Given the description of an element on the screen output the (x, y) to click on. 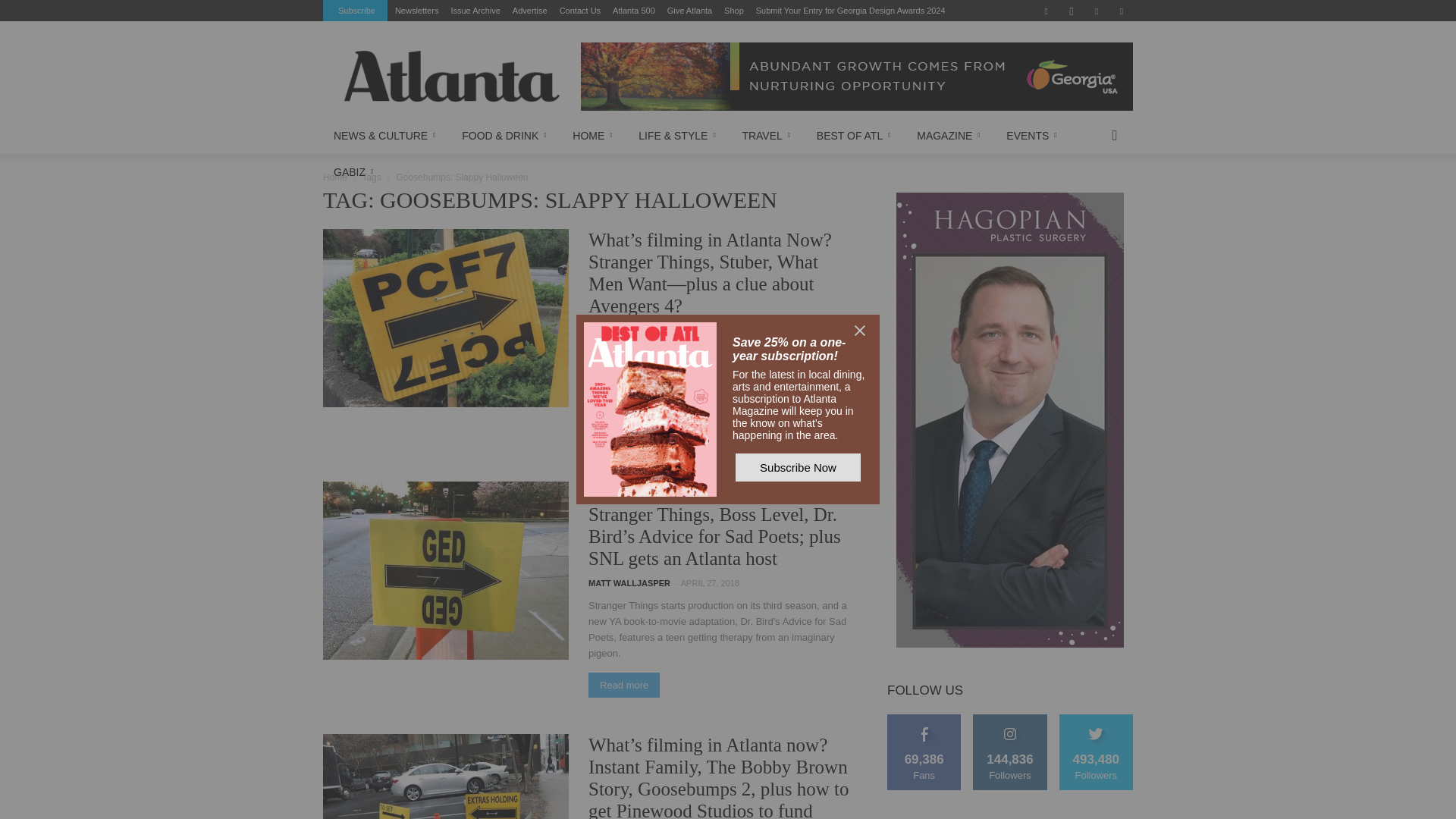
Twitter (1120, 10)
Facebook (1046, 10)
Atlanta Magazine (451, 75)
Linkedin (1096, 10)
Instagram (1071, 10)
